Given the description of an element on the screen output the (x, y) to click on. 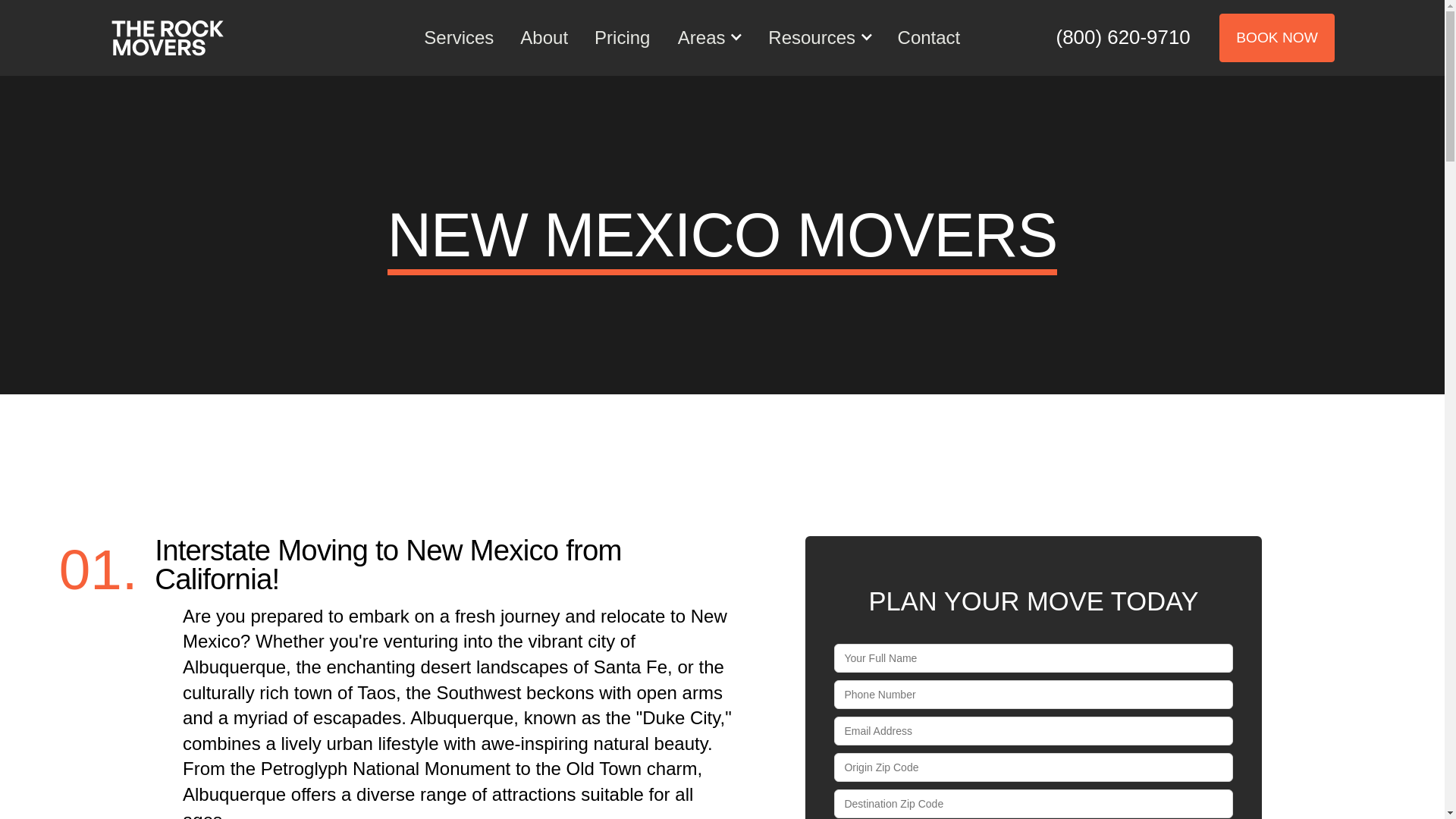
Pricing (621, 37)
Services (458, 37)
About (543, 37)
BOOK NOW (1277, 38)
Contact (928, 37)
